Given the description of an element on the screen output the (x, y) to click on. 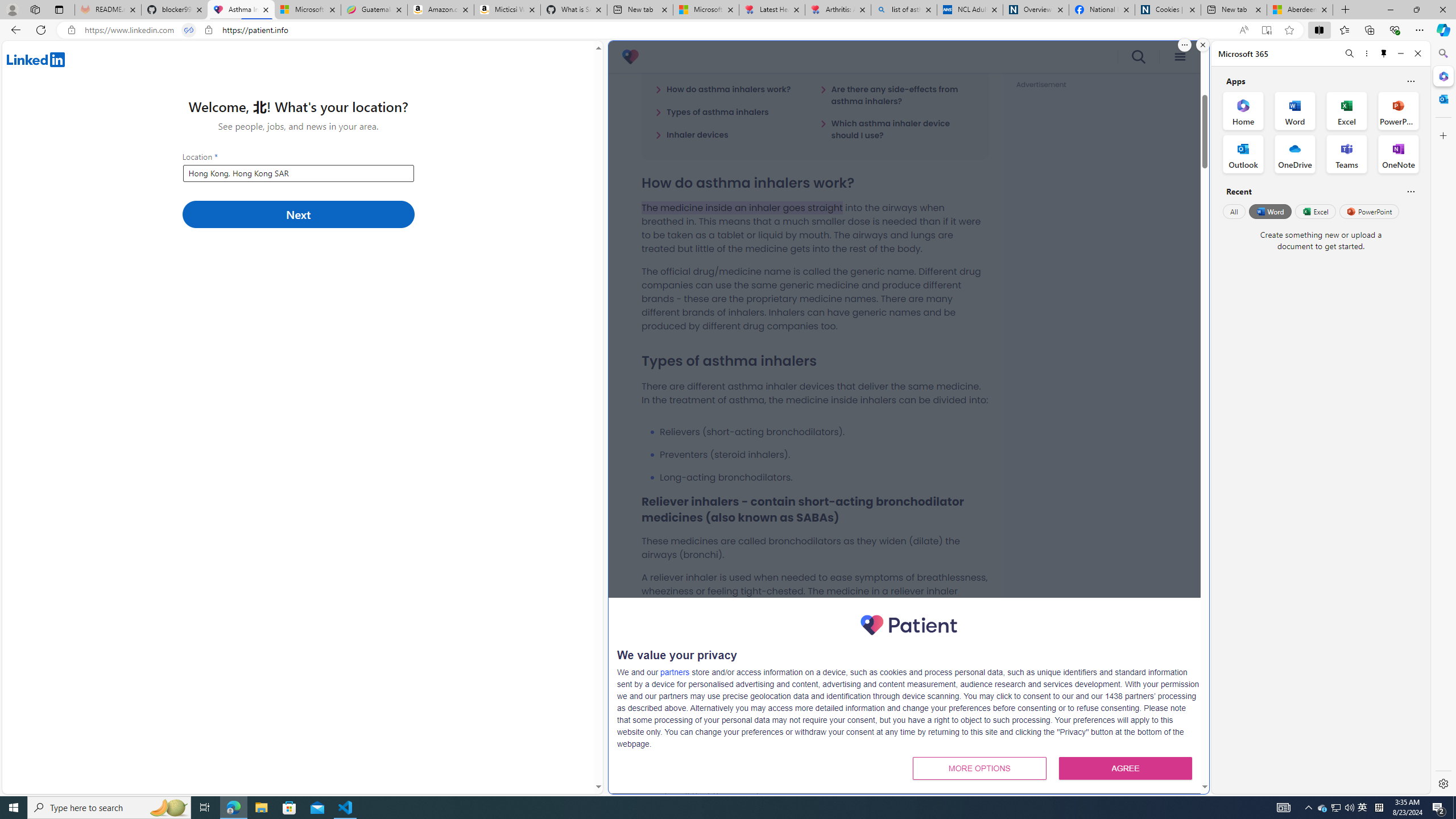
Home Office App (1243, 110)
Preventers (steroid inhalers). (823, 454)
Excel (1315, 210)
MORE OPTIONS (979, 767)
Tabs in split screen (189, 29)
Patient 3.0 (630, 56)
search (1138, 56)
